Given the description of an element on the screen output the (x, y) to click on. 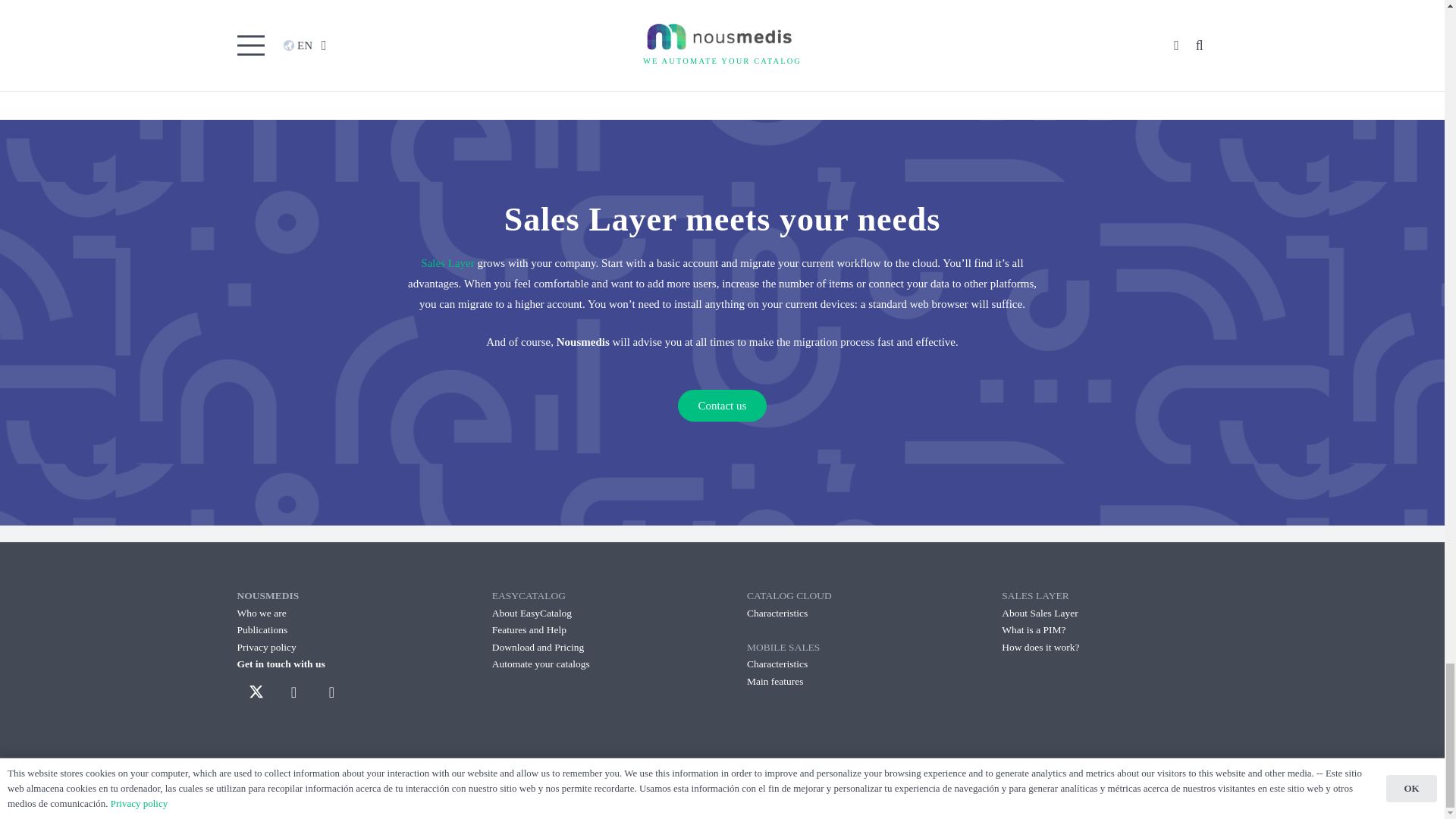
Contact us (722, 405)
Sales Layer (447, 263)
Contact us (722, 405)
Sales Layer (998, 5)
